Given the description of an element on the screen output the (x, y) to click on. 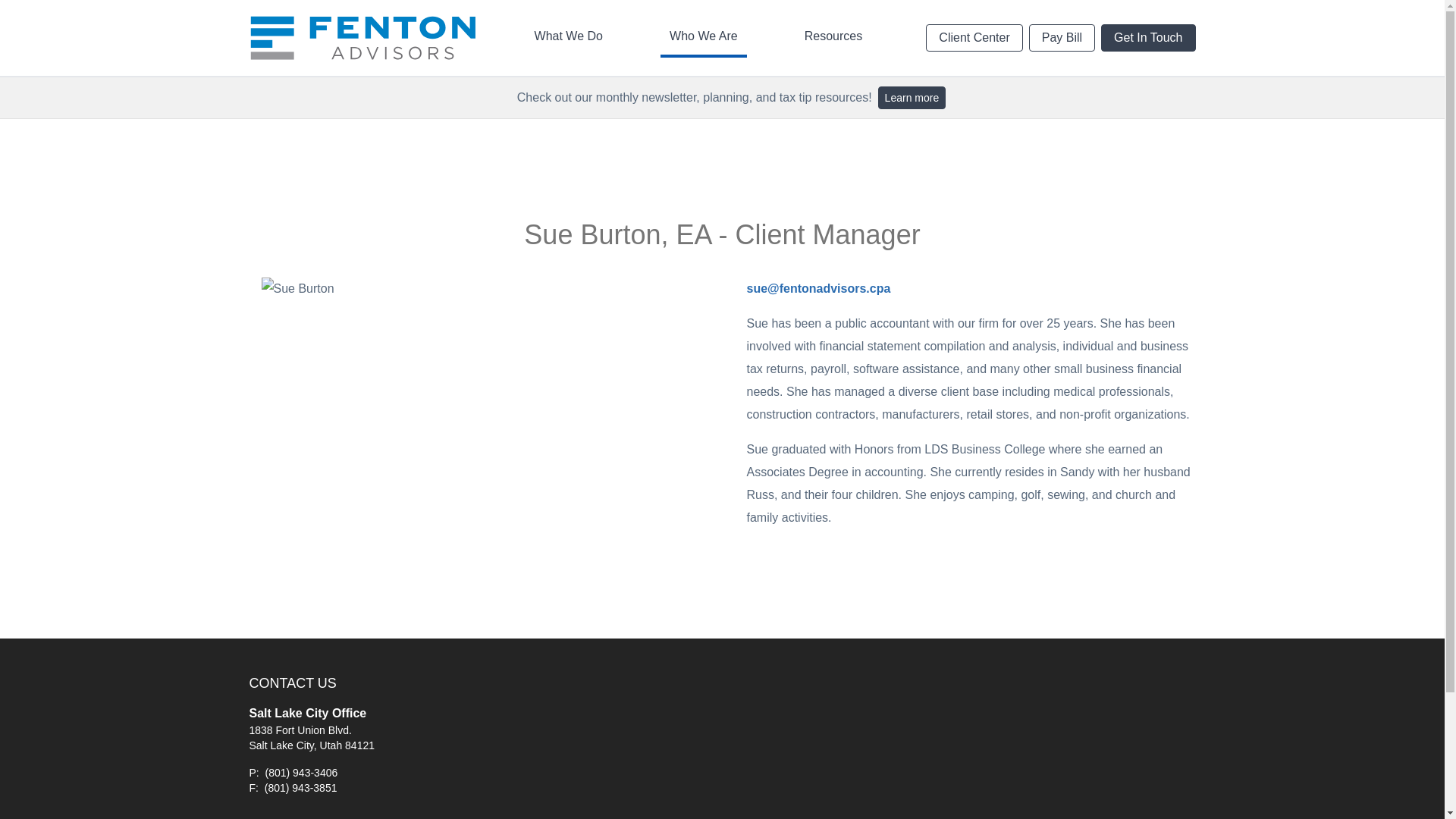
Get In Touch (1147, 37)
Resources (832, 37)
Who We Are (703, 37)
What We Do (568, 37)
Pay Bill (1061, 37)
Client Center (974, 37)
Learn more (911, 97)
